Given the description of an element on the screen output the (x, y) to click on. 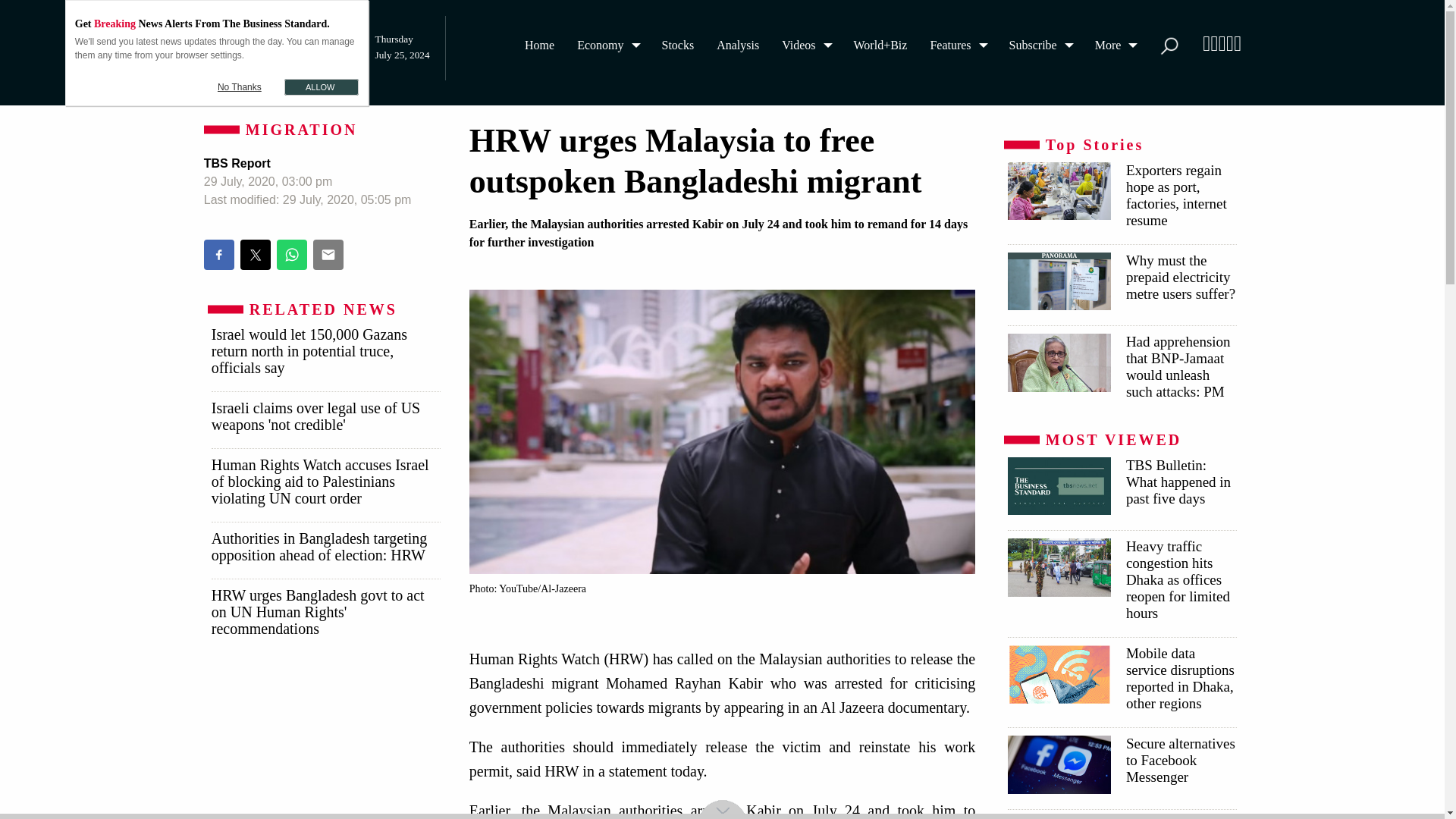
No Thanks (239, 86)
    ALLOW      (320, 86)
